Given the description of an element on the screen output the (x, y) to click on. 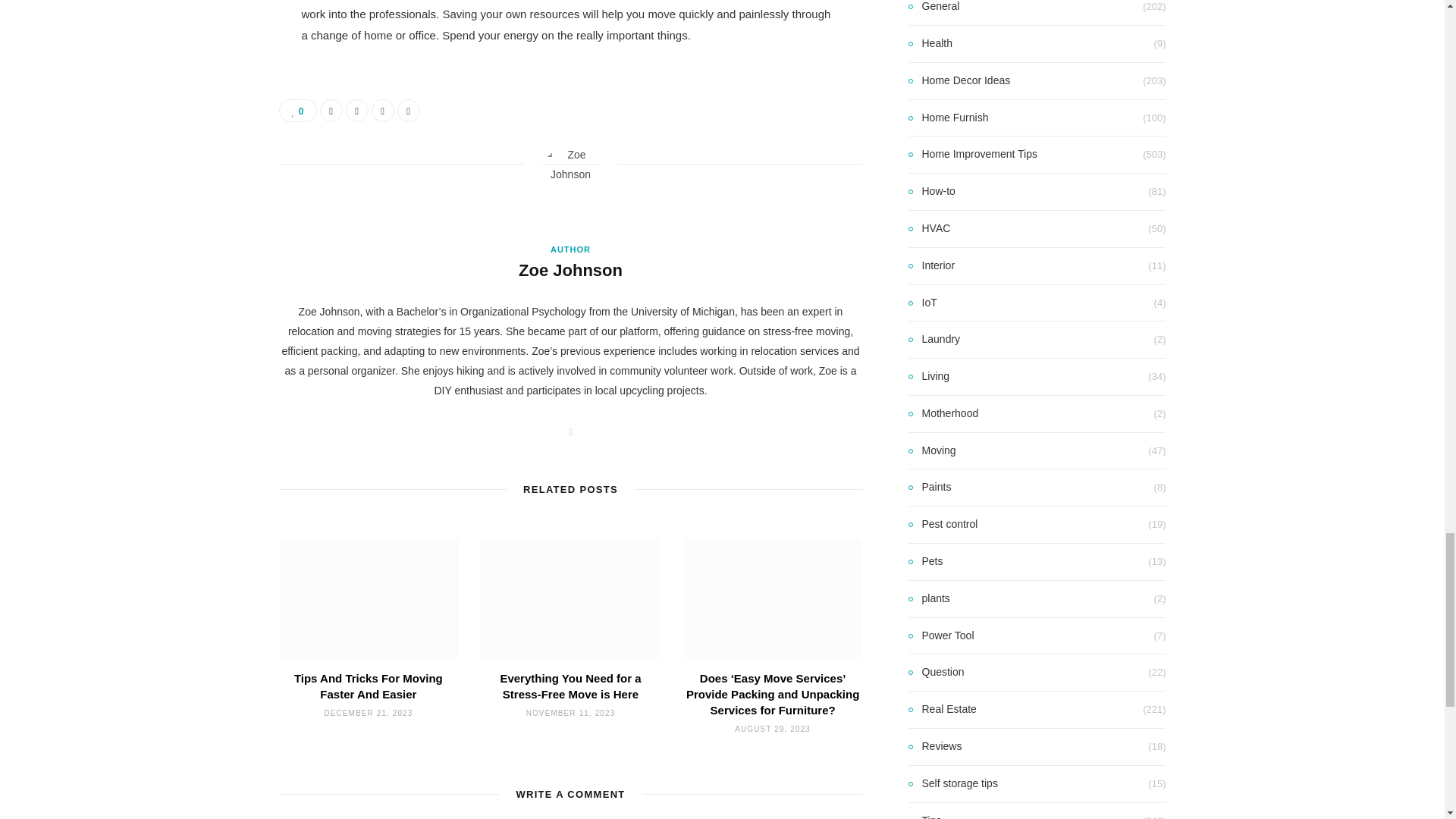
Posts by Zoe Johnson (570, 270)
Everything You Need for a Stress-Free Move is Here (569, 686)
NOVEMBER 11, 2023 (570, 713)
Pinterest (382, 110)
Zoe Johnson (570, 270)
DECEMBER 21, 2023 (367, 713)
Share on Facebook (331, 110)
0 (298, 110)
Share on Twitter (357, 110)
Tips And Tricks For Moving Faster And Easier (368, 686)
